Given the description of an element on the screen output the (x, y) to click on. 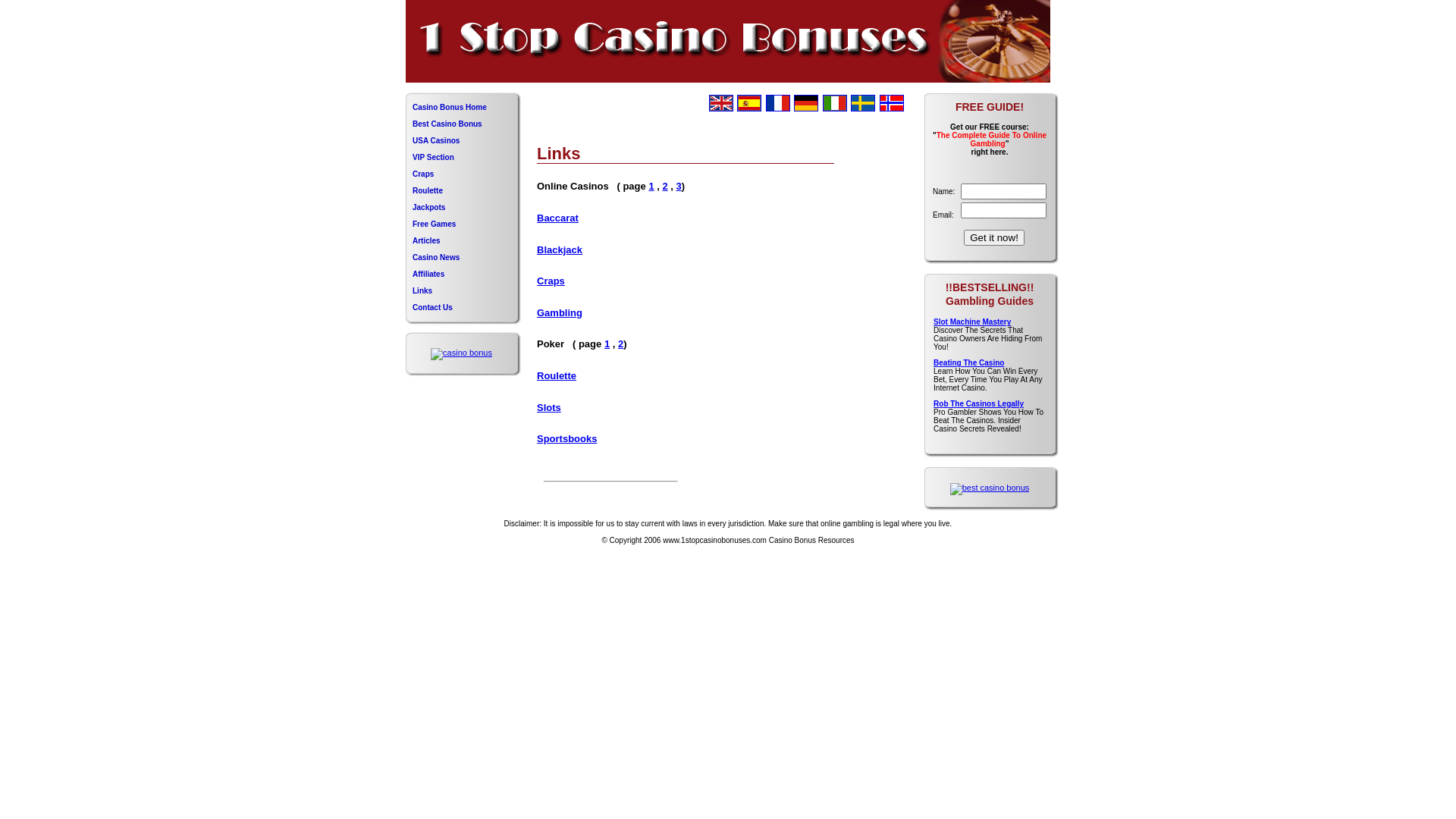
Free Games Element type: text (461, 224)
3 Element type: text (678, 185)
Get it now! Element type: text (993, 237)
Sportsbooks Element type: text (566, 438)
Baccarat Element type: text (557, 217)
Jackpots Element type: text (461, 207)
Casino News Element type: text (461, 257)
USA Casinos Element type: text (461, 140)
Craps Element type: text (550, 280)
Slot Machine Mastery Element type: text (971, 321)
Blackjack Element type: text (559, 249)
2 Element type: text (664, 185)
Rob The Casinos Legally Element type: text (978, 403)
Best Casino Bonus Element type: text (461, 123)
Roulette Element type: text (556, 375)
Articles Element type: text (461, 240)
Gambling Element type: text (559, 312)
Affiliates Element type: text (461, 274)
2 Element type: text (620, 343)
Craps Element type: text (461, 174)
Beating The Casino Element type: text (968, 362)
Roulette Element type: text (461, 190)
1 Element type: text (606, 343)
Casino Bonus Home Element type: text (461, 107)
1 Element type: text (650, 185)
Links Element type: text (461, 290)
VIP Section Element type: text (461, 157)
Slots Element type: text (548, 407)
Contact Us Element type: text (461, 307)
